Given the description of an element on the screen output the (x, y) to click on. 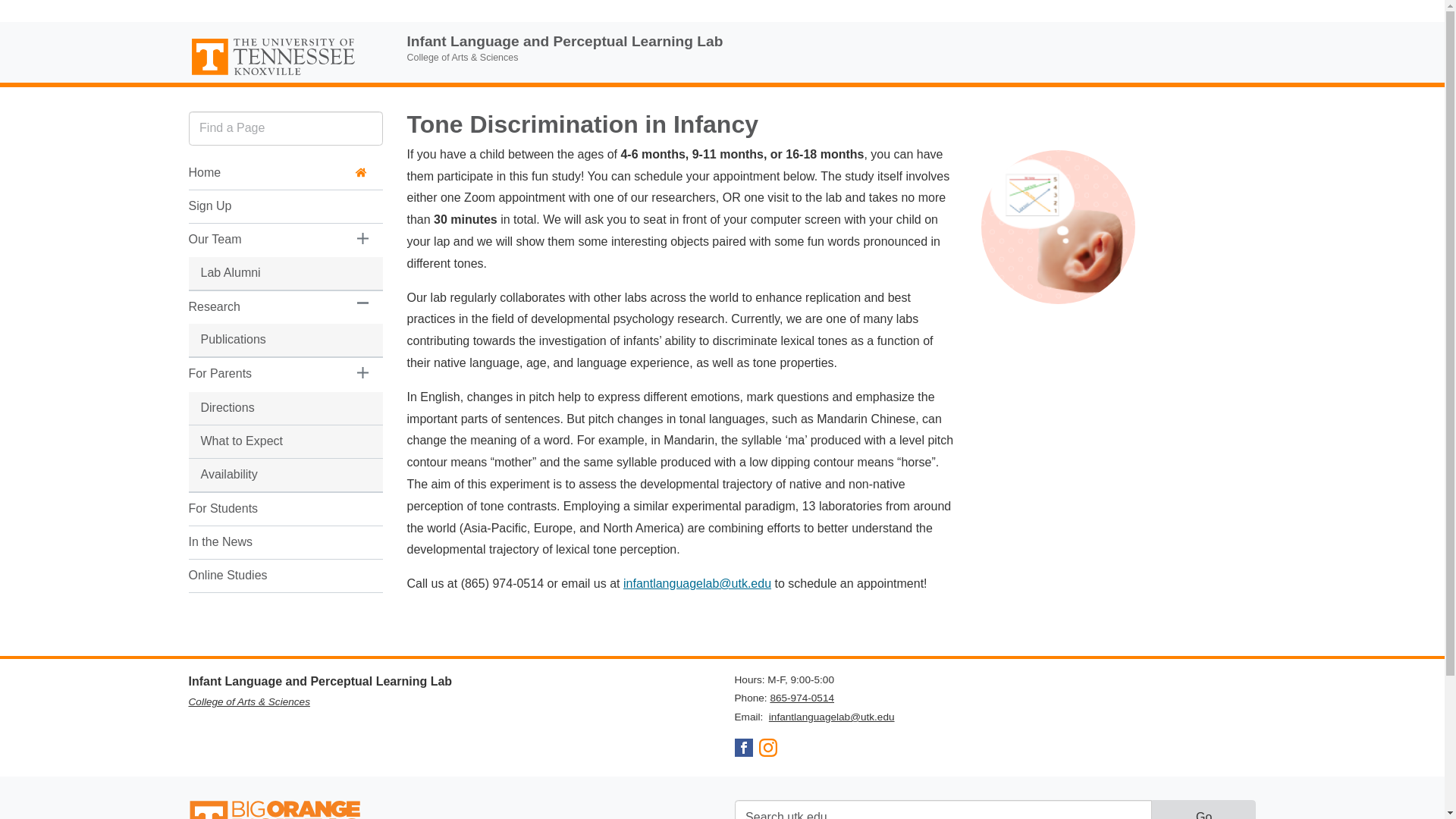
Skip to content (13, 34)
In the News (265, 542)
Publications (265, 339)
Lab Alumni (265, 273)
Toggle Sub Menu (362, 302)
search (942, 809)
For Students (265, 509)
Skip to content (13, 34)
